Given the description of an element on the screen output the (x, y) to click on. 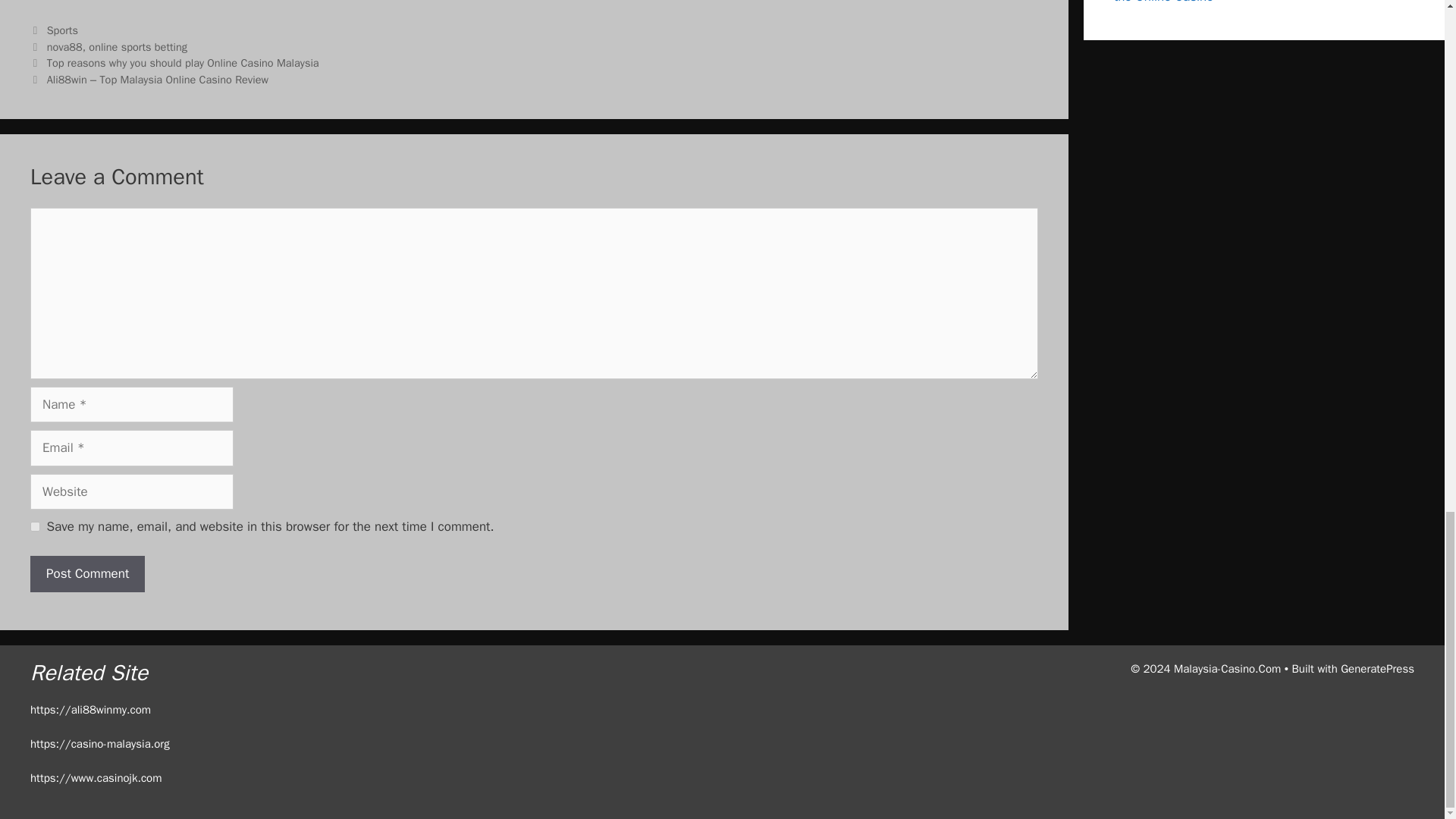
online sports betting (137, 47)
Sports (62, 29)
Previous (174, 62)
nova88 (64, 47)
Top reasons why you should play Online Casino Malaysia (182, 62)
Post Comment (87, 574)
GeneratePress (1376, 668)
Post Comment (87, 574)
yes (35, 526)
Next (148, 79)
